Given the description of an element on the screen output the (x, y) to click on. 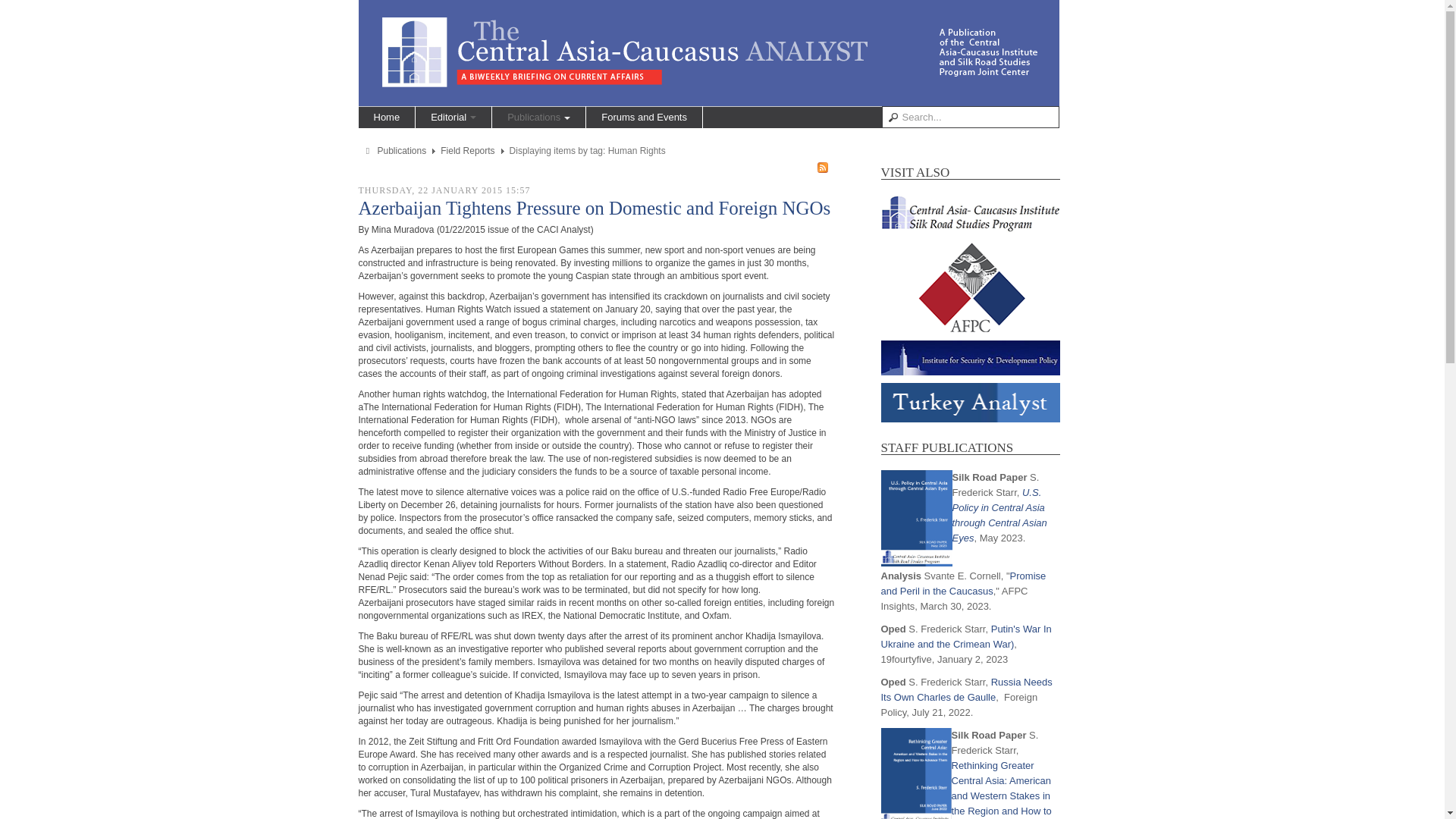
Field Reports (468, 150)
Home (386, 117)
Publications (538, 117)
Russia Needs Its Own Charles de Gaulle (966, 689)
Editorial (453, 117)
Promise and Peril in the Caucasus (963, 583)
Azerbaijan Tightens Pressure on Domestic and Foreign NGOs (593, 208)
U.S. Policy in Central Asia through Central Asian Eyes (999, 514)
Publications (401, 150)
Subscribe to this RSS feed (821, 167)
Forums and Events (643, 117)
